Given the description of an element on the screen output the (x, y) to click on. 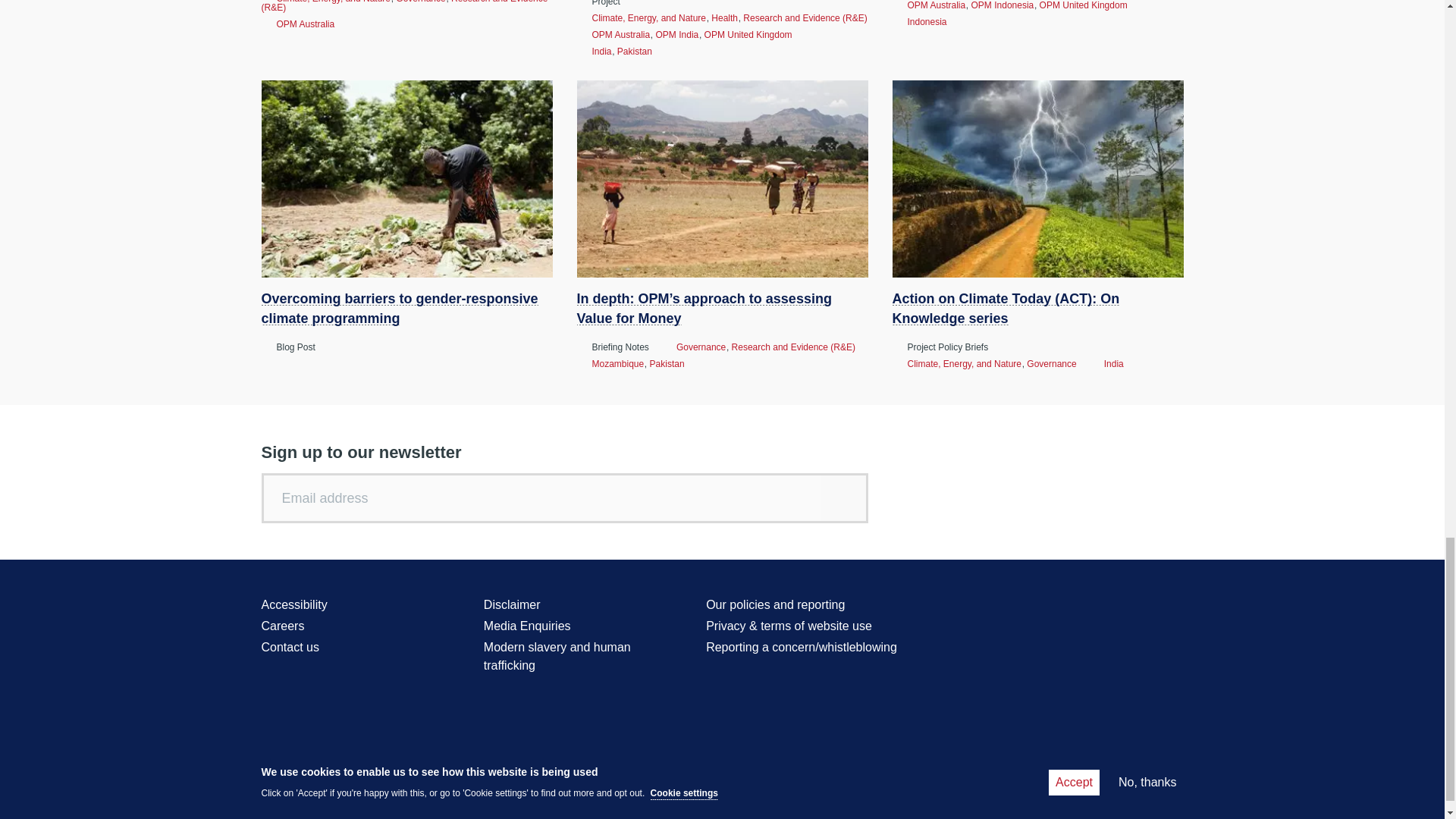
Facebook (1088, 607)
LinkedIn (1143, 607)
Vimeo (1172, 607)
YouTube (1115, 607)
Twitter (1060, 607)
